Given the description of an element on the screen output the (x, y) to click on. 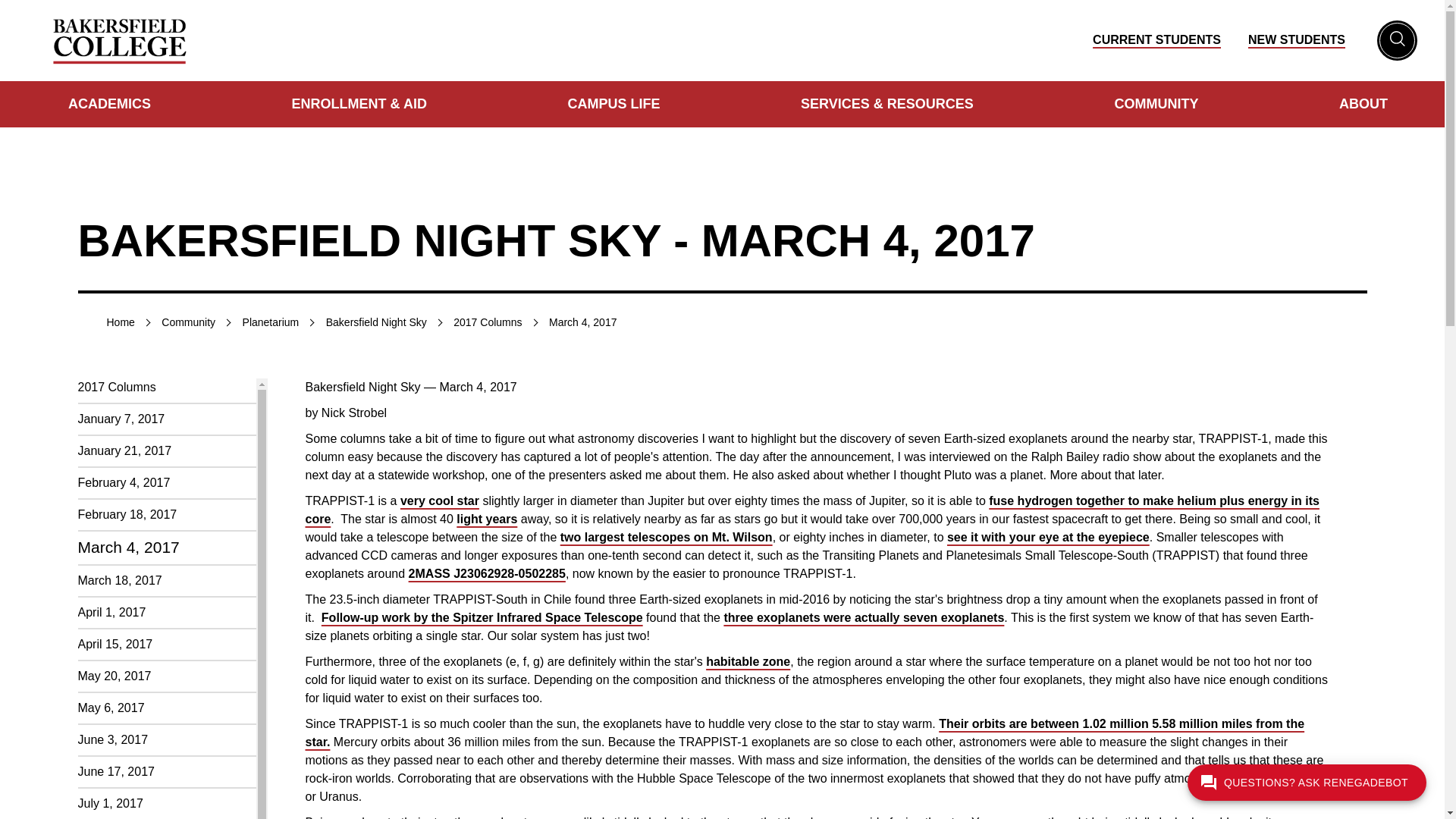
Bakersfield College (119, 40)
CURRENT STUDENTS (1157, 39)
toggle search (1396, 40)
CAMPUS LIFE (613, 103)
COMMUNITY (1155, 103)
ABOUT (1363, 103)
ACADEMICS (109, 103)
QUESTIONS? ASK RENEGADEBOT (1307, 782)
NEW STUDENTS (1296, 39)
